Given the description of an element on the screen output the (x, y) to click on. 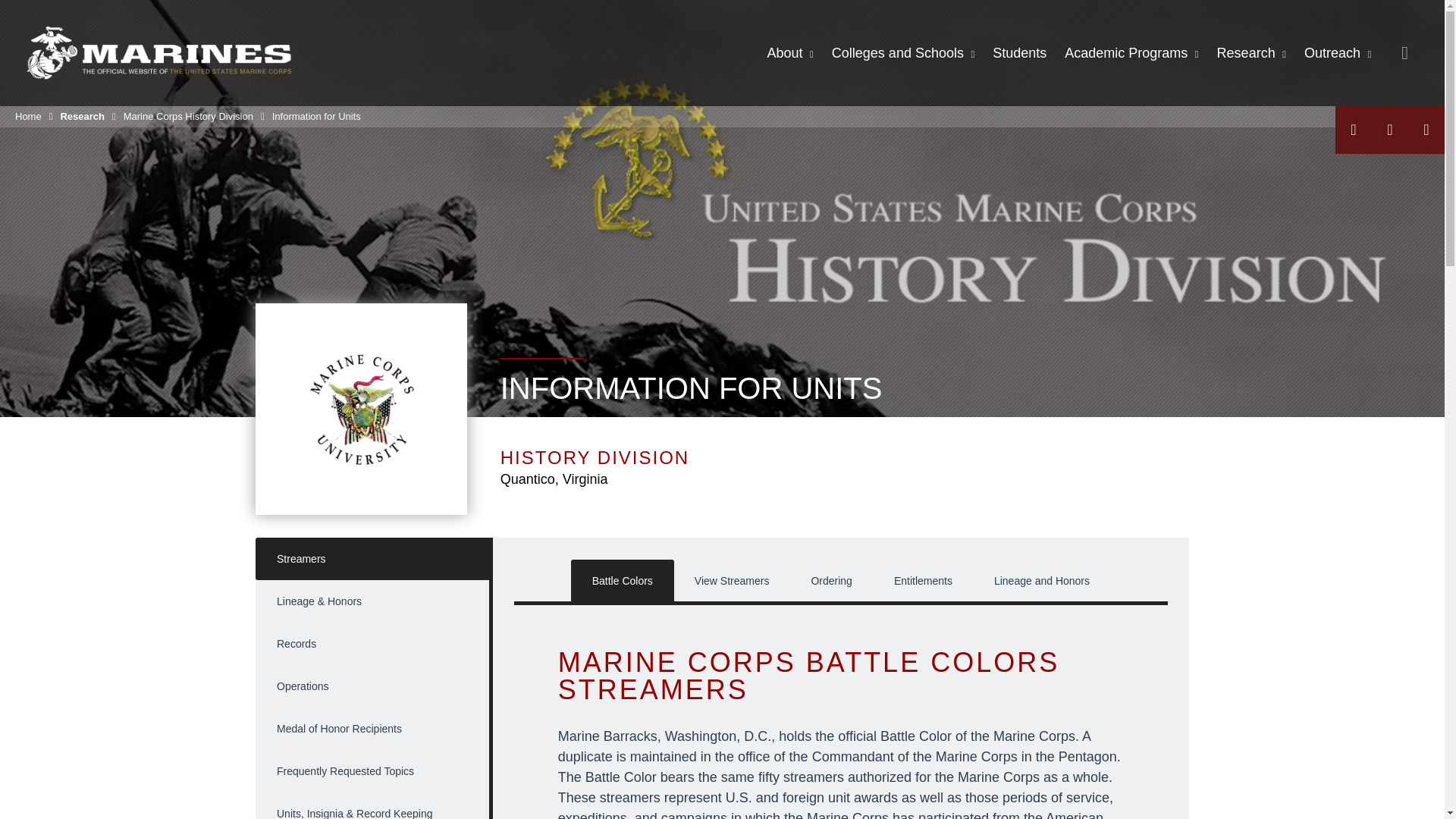
Marine Corps University (159, 52)
